Given the description of an element on the screen output the (x, y) to click on. 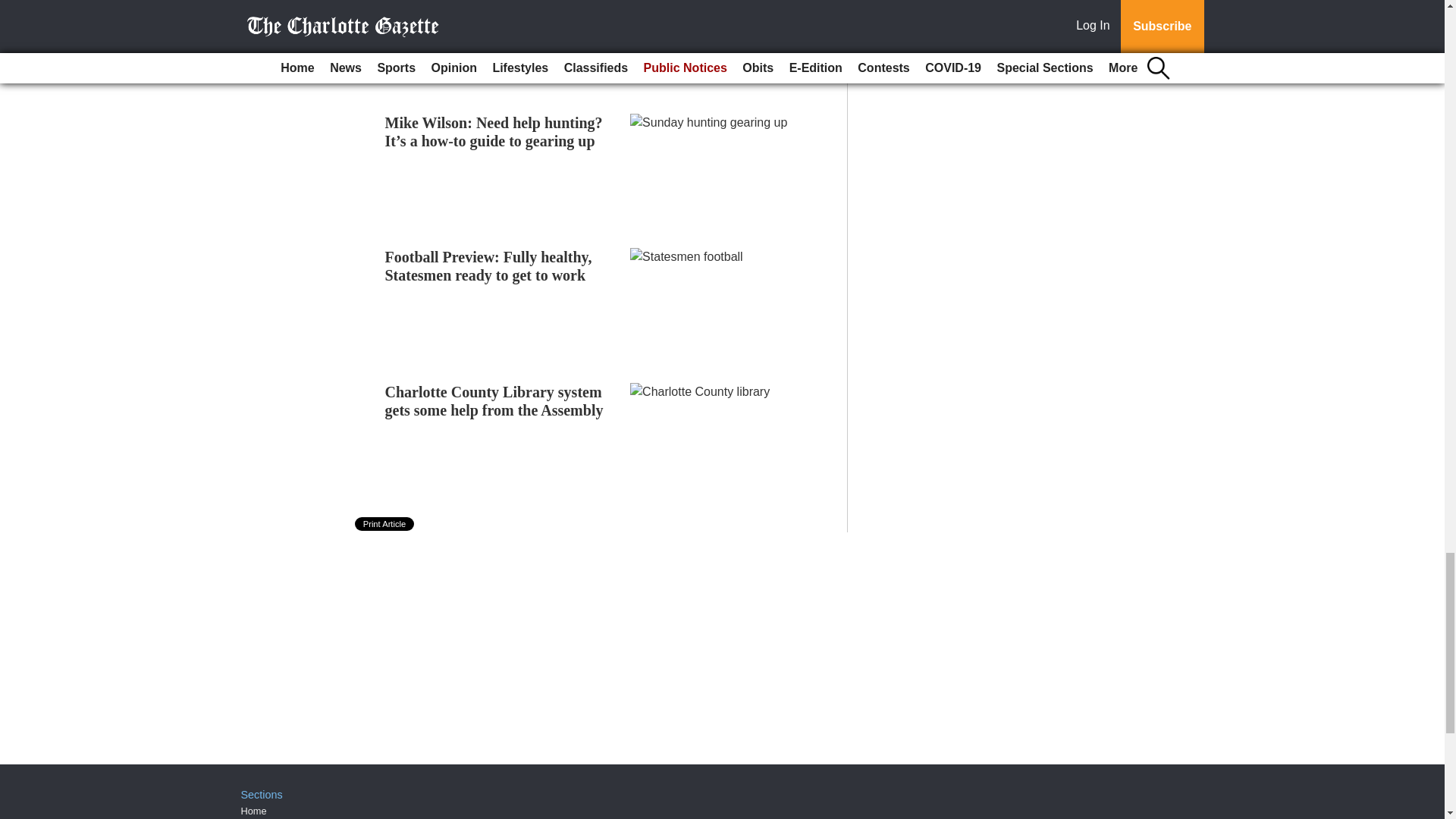
Print Article (384, 523)
Charlotte County FFA Alumni celebrate with annual dinner (483, 7)
Charlotte County FFA Alumni celebrate with annual dinner (483, 7)
